Given the description of an element on the screen output the (x, y) to click on. 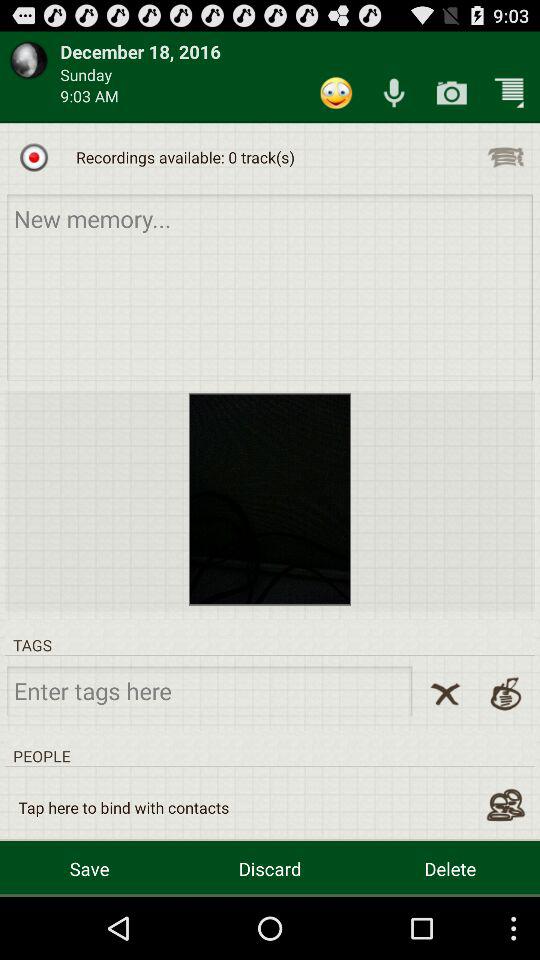
options menu (505, 157)
